Given the description of an element on the screen output the (x, y) to click on. 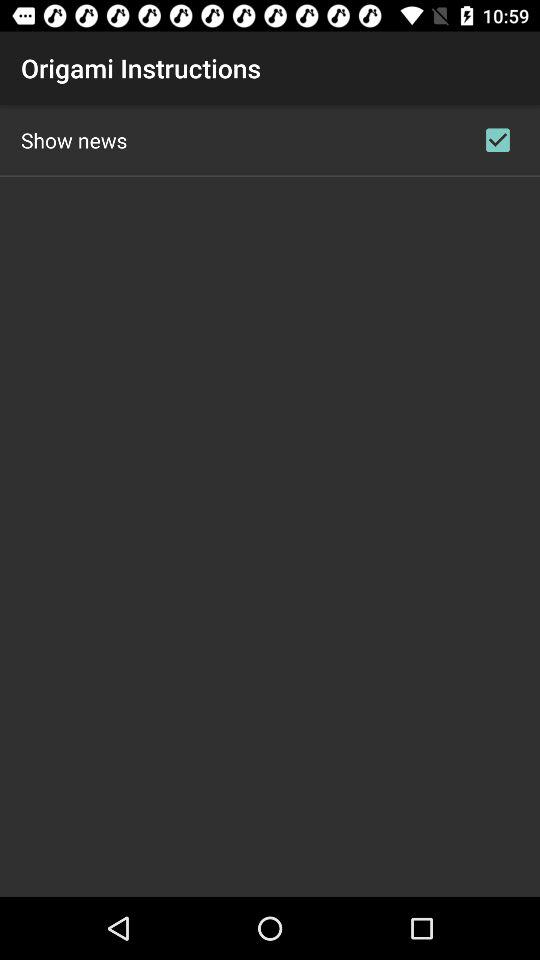
press item next to show news icon (497, 140)
